Given the description of an element on the screen output the (x, y) to click on. 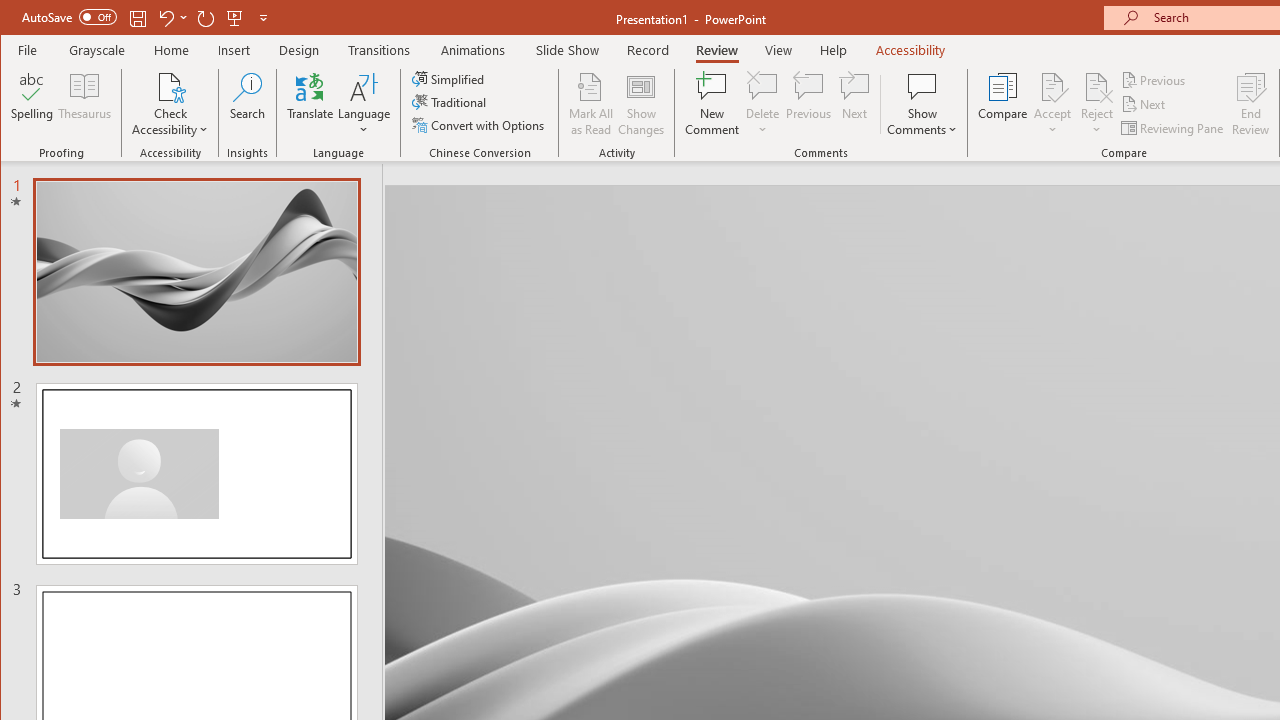
Language (363, 104)
Traditional (450, 101)
Simplified (450, 78)
New Comment (712, 104)
Mark All as Read (591, 104)
Thesaurus... (84, 104)
